Given the description of an element on the screen output the (x, y) to click on. 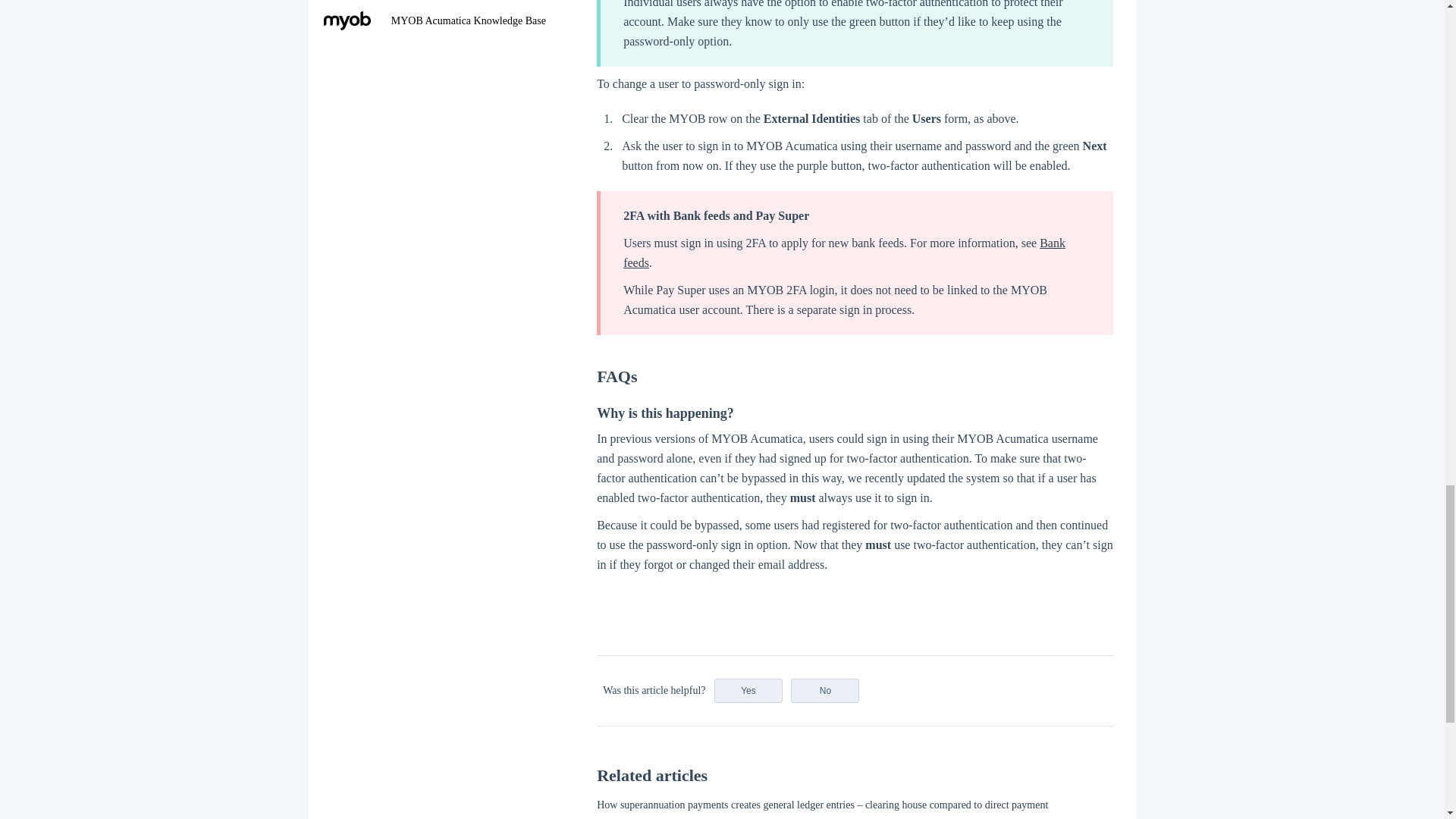
No (824, 690)
Yes (748, 690)
Bank feeds (844, 252)
